Given the description of an element on the screen output the (x, y) to click on. 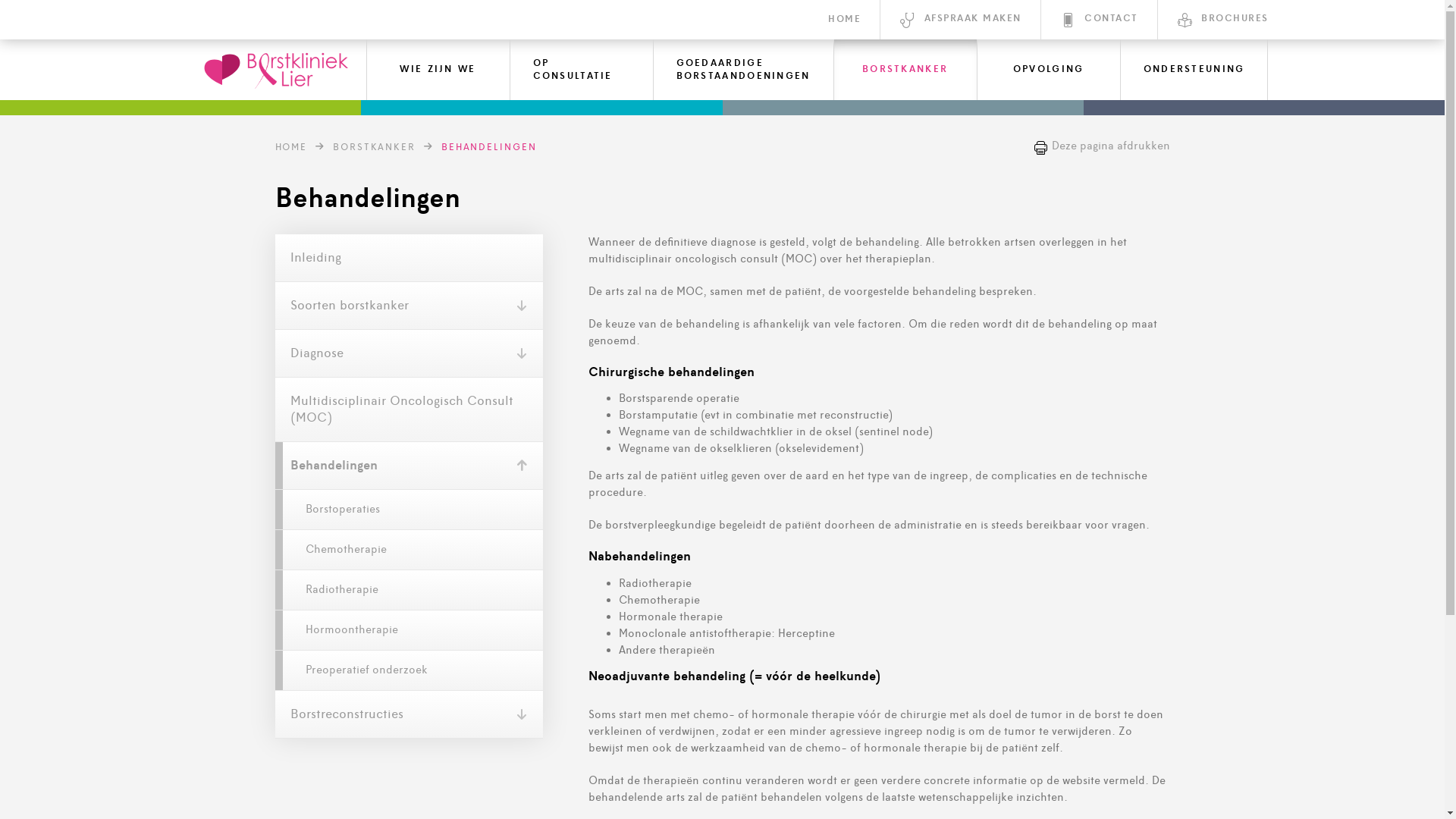
GOEDAARDIGE BORSTAANDOENINGEN Element type: text (743, 69)
BROCHURES Element type: text (1212, 19)
ONDERSTEUNING Element type: text (1193, 69)
Inleiding Element type: text (408, 258)
Radiotherapie Element type: text (408, 590)
HOME Element type: text (844, 19)
Preoperatief onderzoek Element type: text (408, 670)
AFSPRAAK MAKEN Element type: text (960, 19)
Deze pagina afdrukken Element type: text (1101, 145)
HOME Element type: text (290, 147)
OPVOLGING Element type: text (1048, 69)
Diagnose Element type: text (408, 353)
Hormoontherapie Element type: text (408, 630)
Multidisciplinair Oncologisch Consult (MOC) Element type: text (408, 409)
CONTACT Element type: text (1098, 19)
OP CONSULTATIE Element type: text (581, 69)
WIE ZIJN WE Element type: text (438, 69)
Behandelingen Element type: text (408, 465)
Chemotherapie Element type: text (408, 550)
Borstreconstructies Element type: text (408, 714)
BORSTKANKER Element type: text (905, 69)
Soorten borstkanker Element type: text (408, 305)
BORSTKANKER Element type: text (373, 147)
Borstoperaties Element type: text (408, 509)
